Given the description of an element on the screen output the (x, y) to click on. 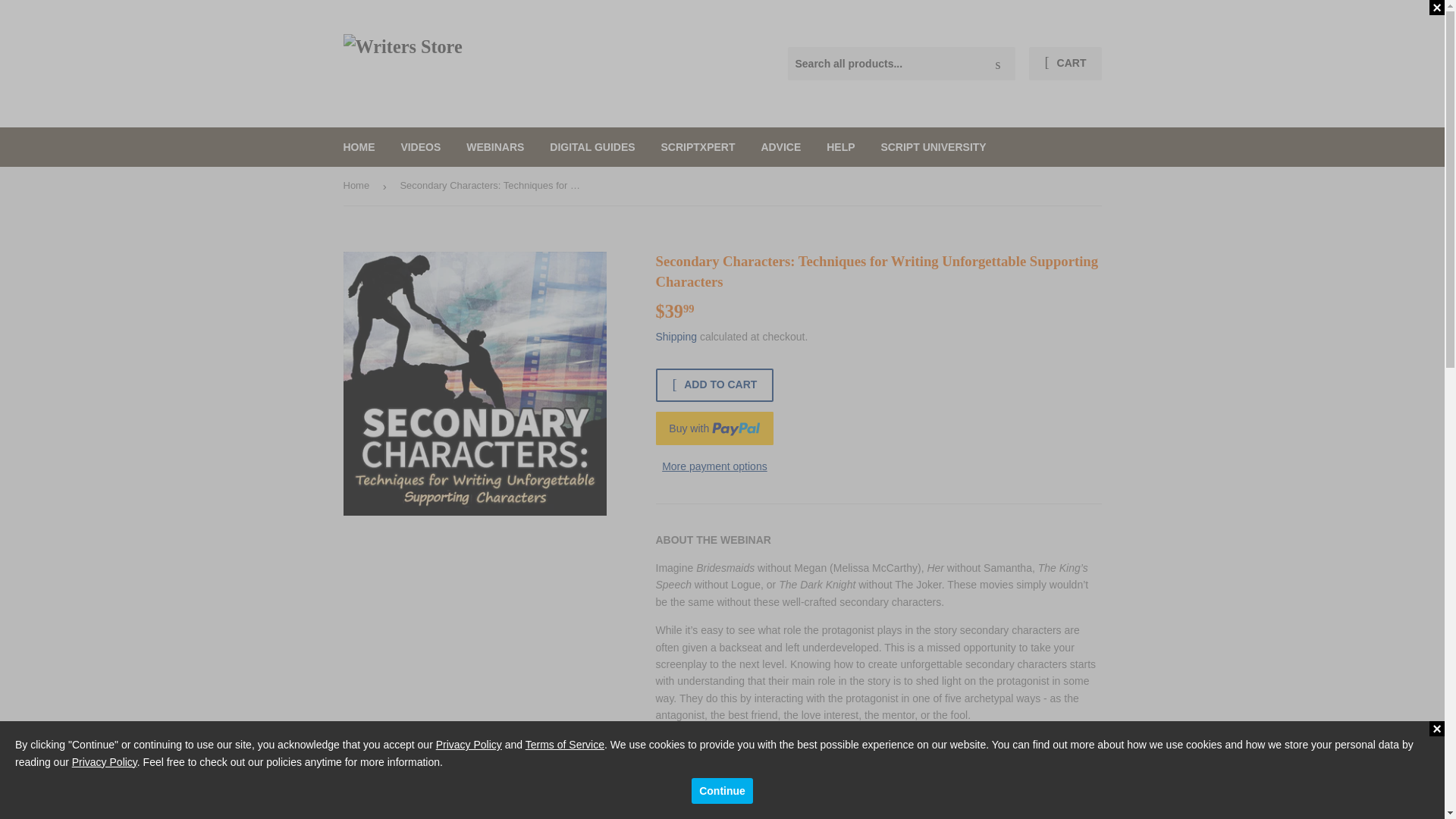
CART (1064, 63)
ADVICE (780, 147)
HELP (840, 147)
Search (997, 64)
SCRIPTXPERT (697, 147)
DIGITAL GUIDES (592, 147)
More payment options (714, 466)
ADD TO CART (714, 385)
WEBINARS (494, 147)
VIDEOS (419, 147)
